Given the description of an element on the screen output the (x, y) to click on. 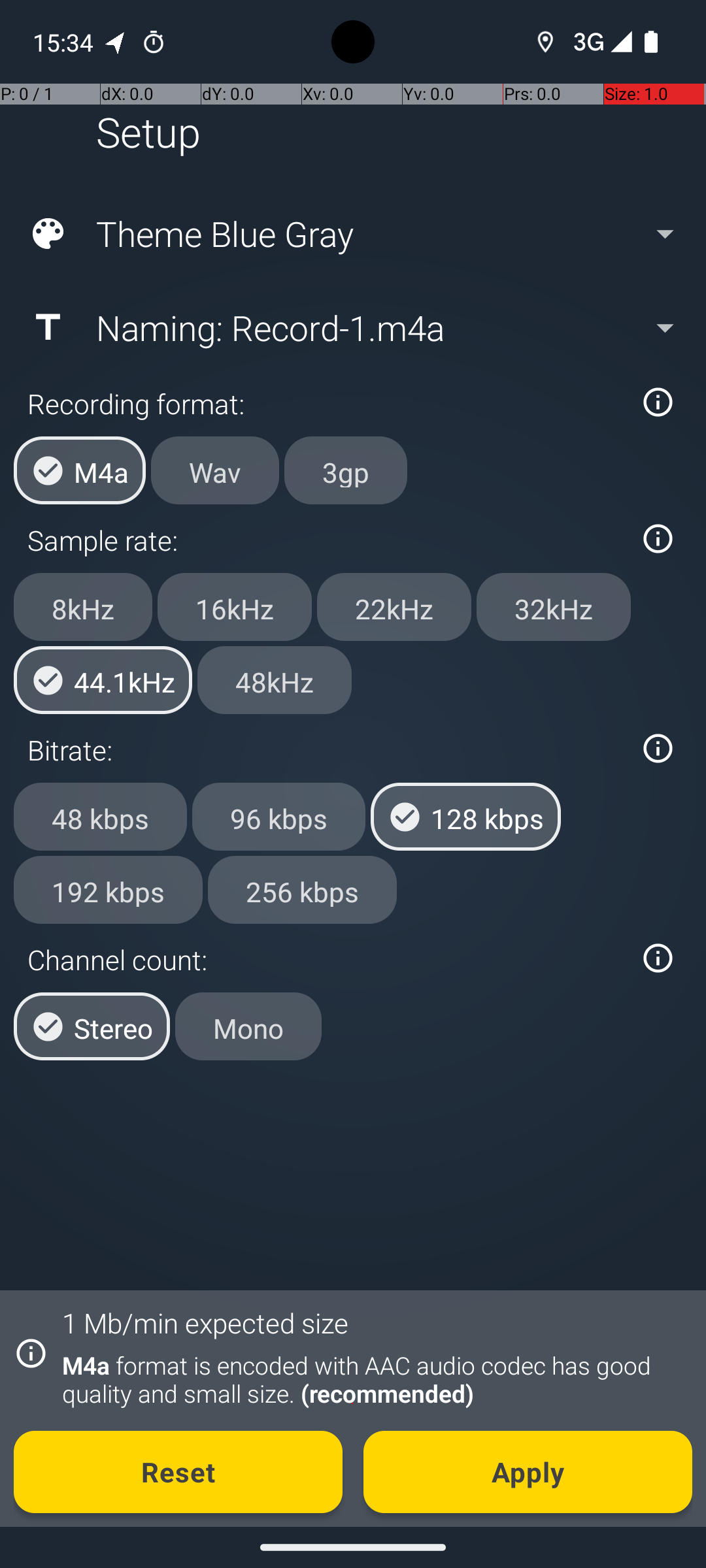
3G Element type: android.widget.ImageView (587, 41)
